Given the description of an element on the screen output the (x, y) to click on. 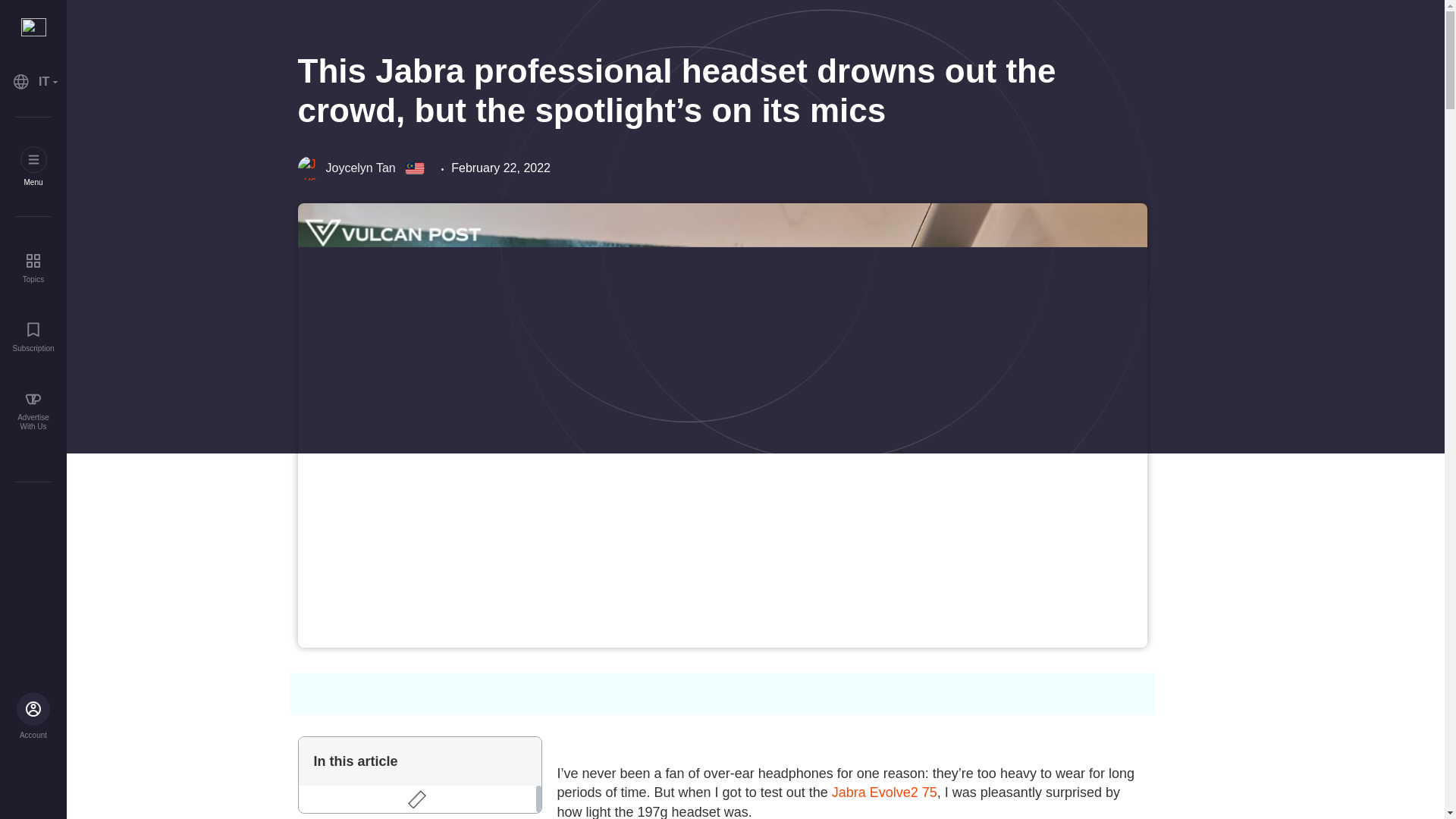
Jabra Evolve2 75 (884, 792)
Subscription (33, 336)
Advertise With Us (33, 410)
Menu (33, 166)
IT (33, 81)
Joycelyn Tan (345, 168)
Topics (33, 267)
